Given the description of an element on the screen output the (x, y) to click on. 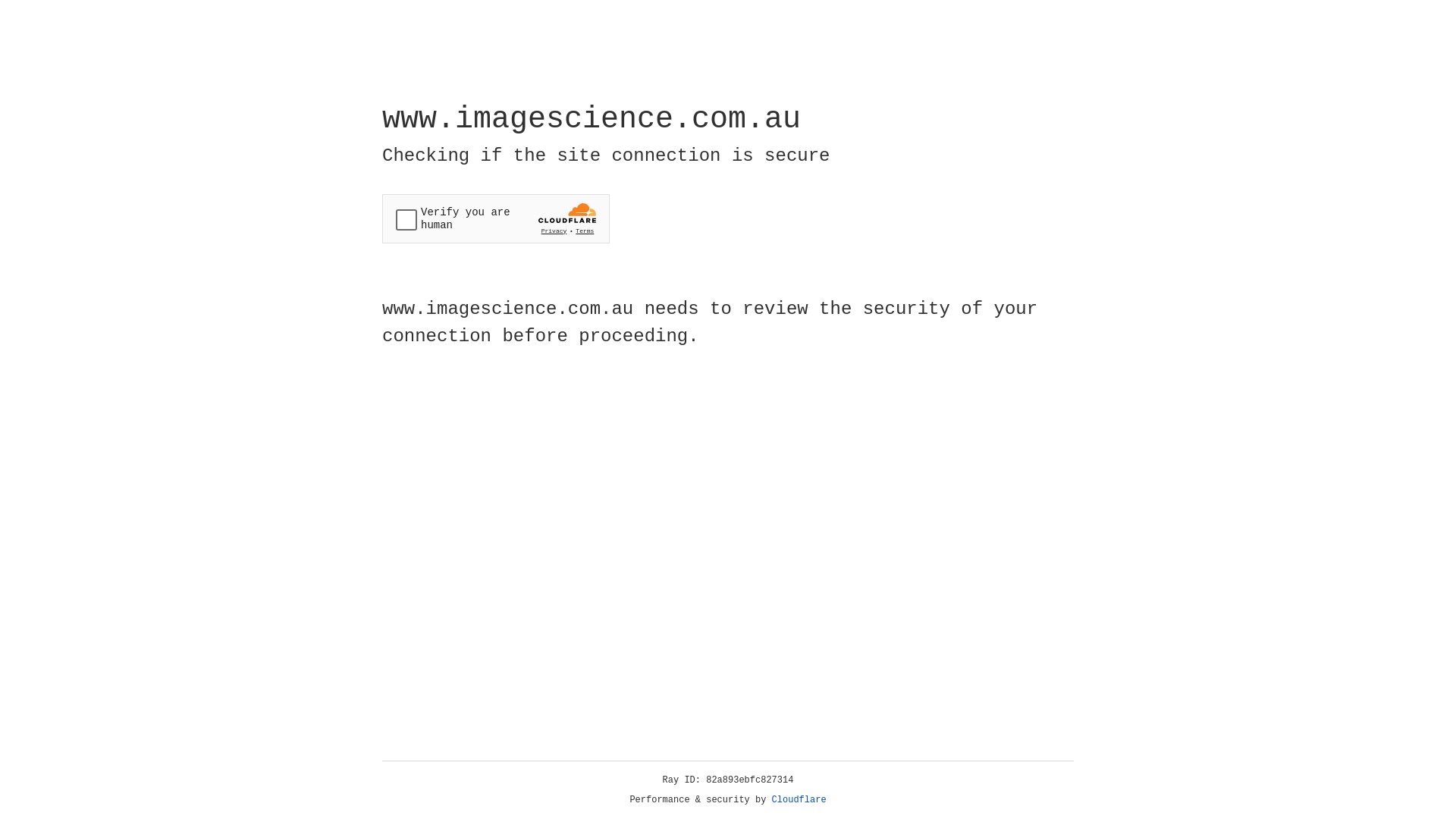
Widget containing a Cloudflare security challenge Element type: hover (495, 218)
Cloudflare Element type: text (798, 799)
